Given the description of an element on the screen output the (x, y) to click on. 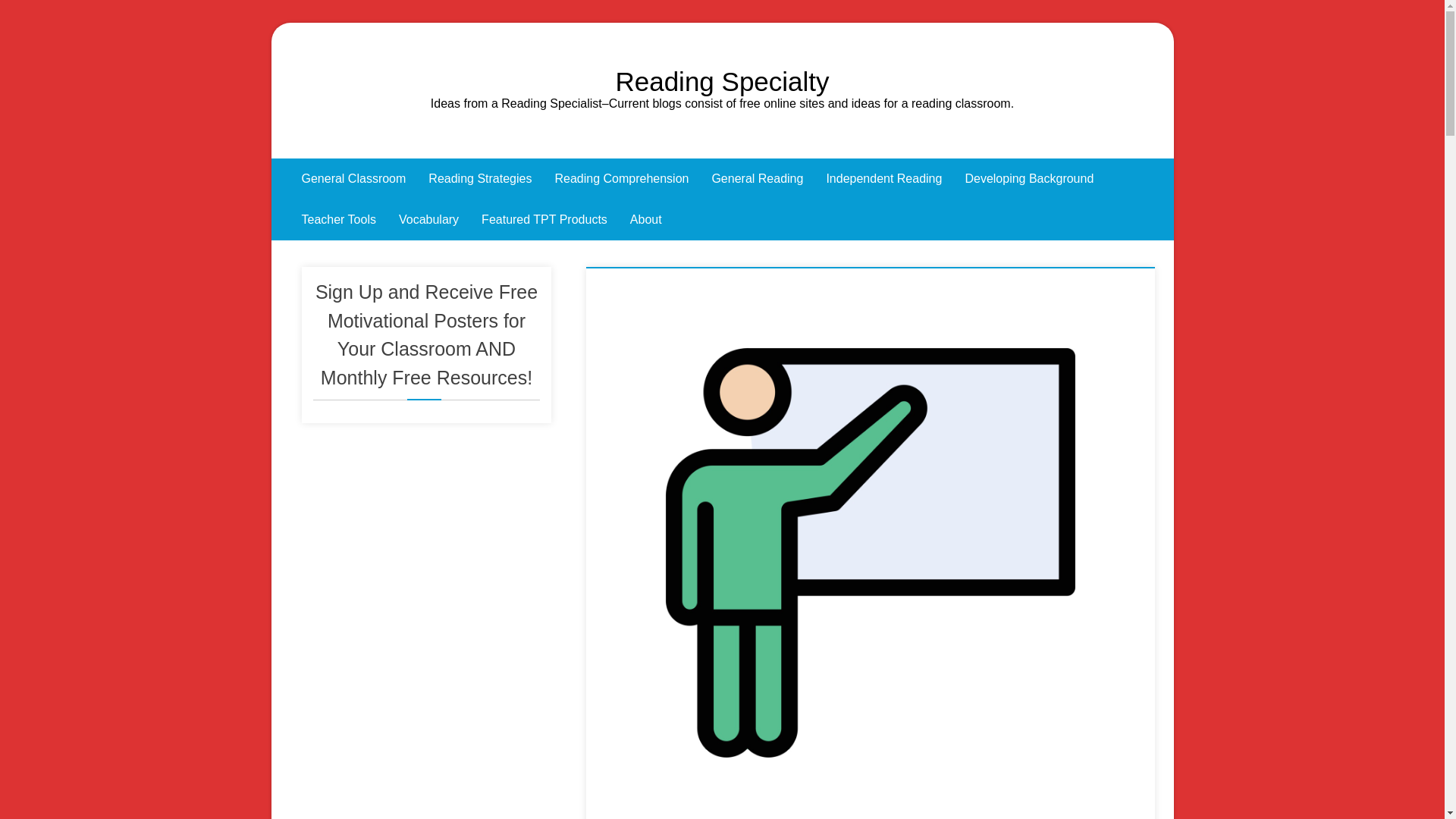
Reading Comprehension (621, 178)
General Classroom (352, 178)
Featured TPT Products (544, 219)
Reading Specialty (721, 81)
General Reading (756, 178)
Teacher Tools (338, 219)
Developing Background (1029, 178)
Independent Reading (883, 178)
About (645, 219)
